Given the description of an element on the screen output the (x, y) to click on. 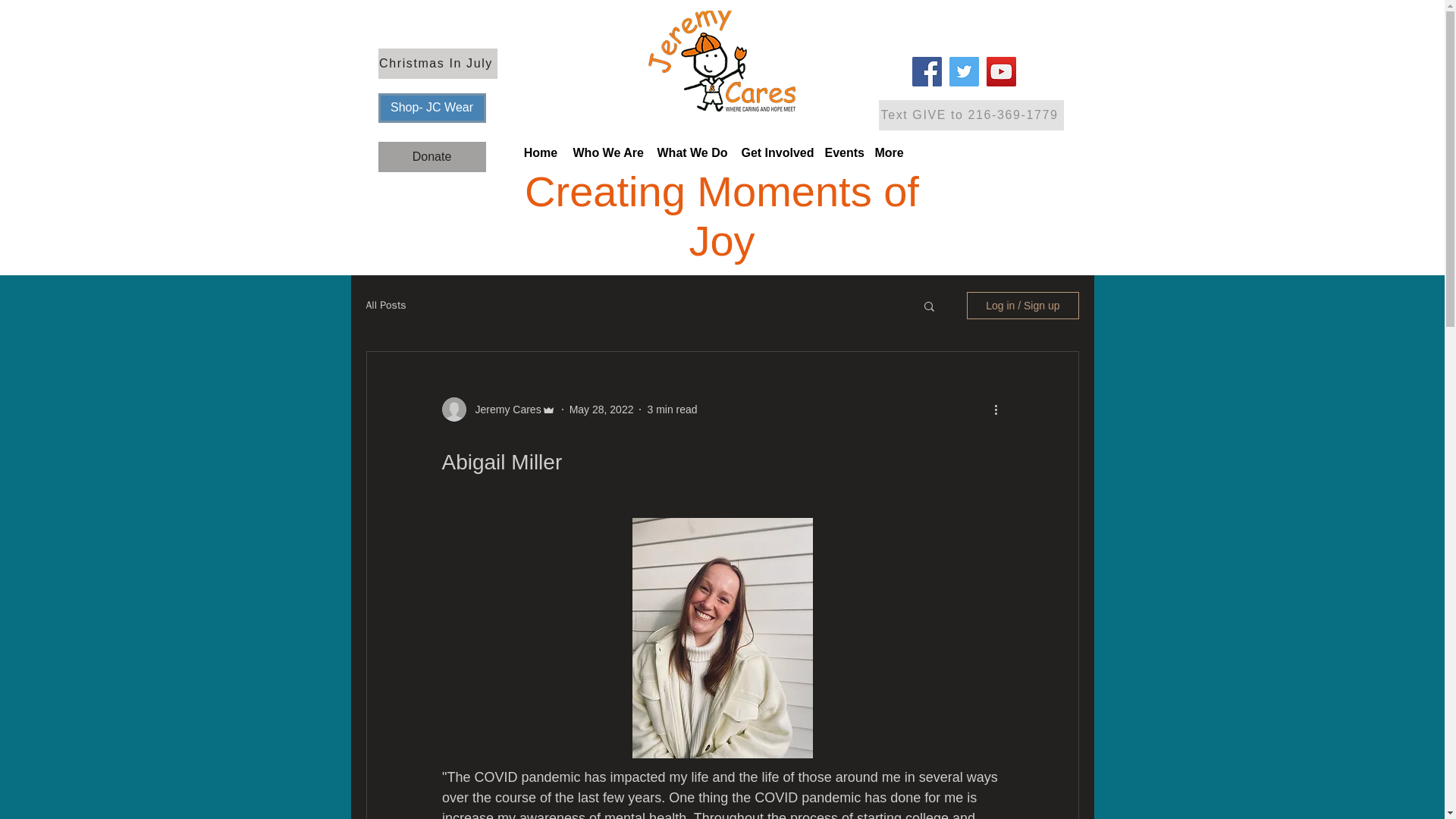
Events (841, 152)
Home (539, 152)
Christmas In July (436, 63)
Shop- JC Wear (430, 107)
Get Involved (774, 152)
More (889, 152)
Who We Are (607, 152)
All Posts (385, 305)
May 28, 2022 (601, 409)
Donate (430, 156)
Text GIVE to 216-369-1779 (969, 114)
Jeremy Cares (502, 409)
3 min read (671, 409)
What We Do (691, 152)
